Given the description of an element on the screen output the (x, y) to click on. 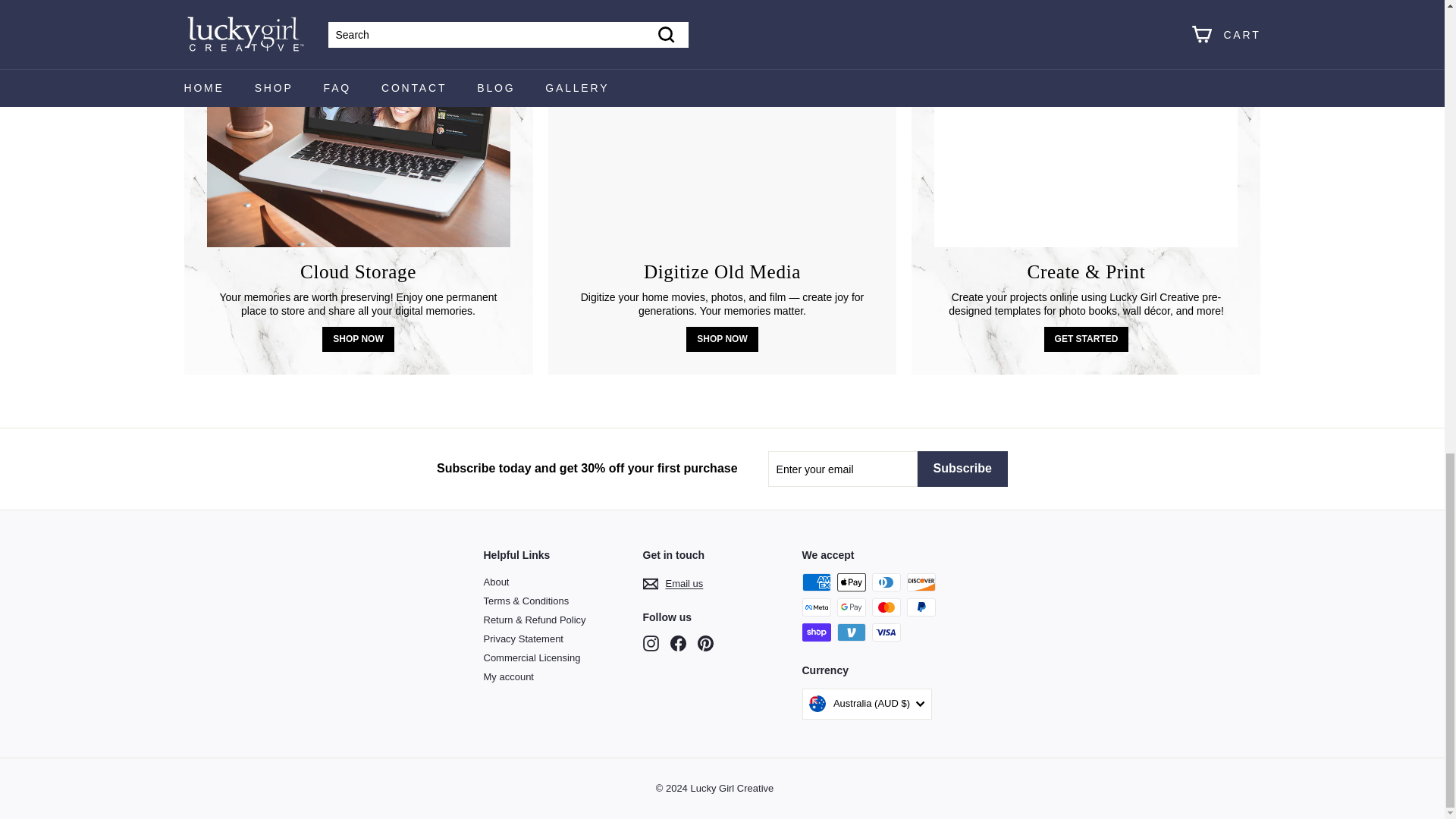
Mastercard (886, 607)
Google Pay (851, 607)
American Express (816, 582)
Apple Pay (851, 582)
Discover (921, 582)
Meta Pay (816, 607)
Diners Club (886, 582)
PayPal (921, 607)
